Given the description of an element on the screen output the (x, y) to click on. 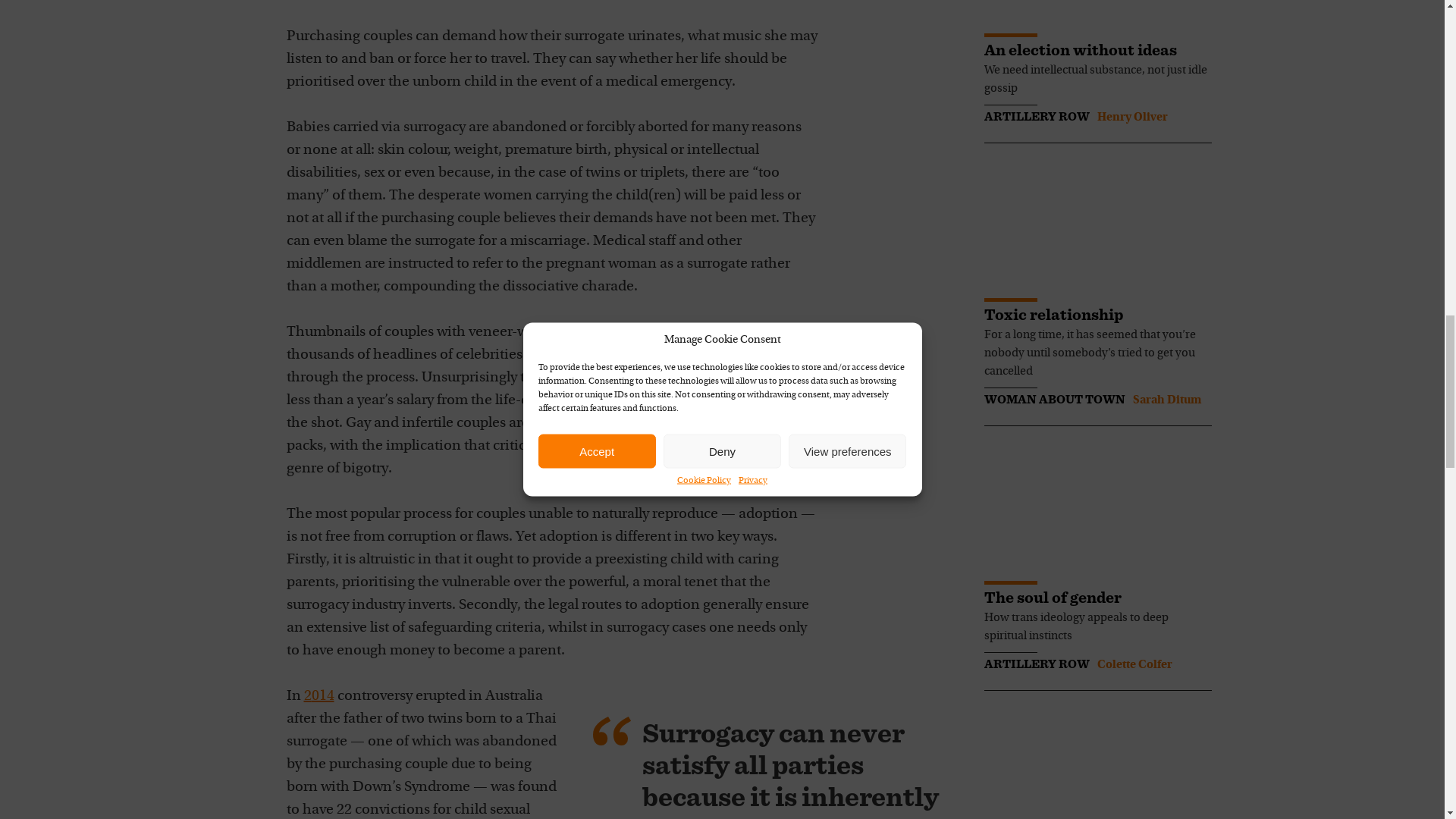
Posts by Henry Oliver (1131, 117)
Posts by Sarah Ditum (1166, 399)
Posts by Colette Colfer (1134, 664)
2014 (317, 695)
